Given the description of an element on the screen output the (x, y) to click on. 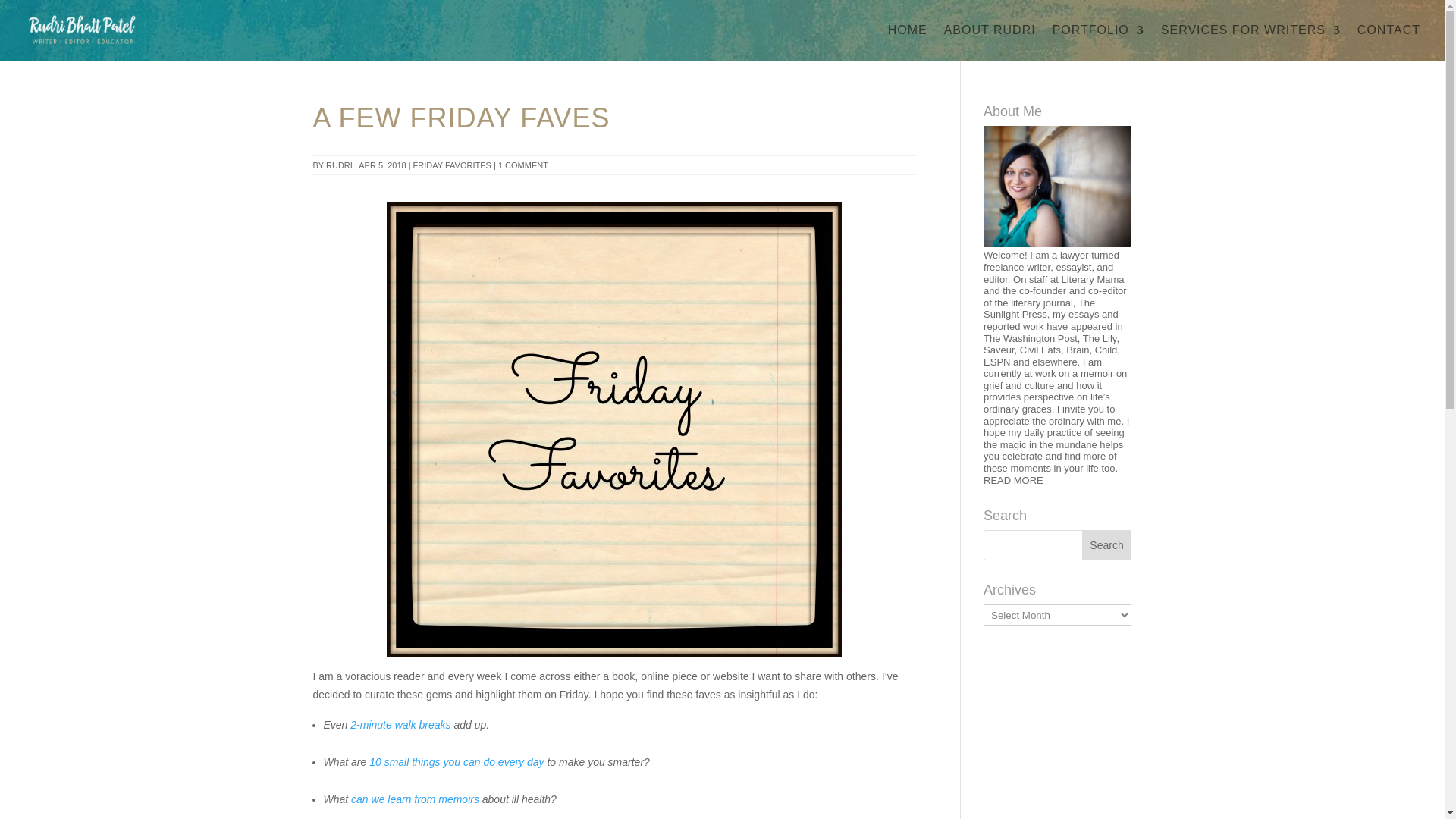
PORTFOLIO (1098, 42)
2-minute walk breaks (399, 725)
Posts by Rudri (339, 164)
1 COMMENT (522, 164)
Search (1106, 544)
can we learn from memoirs (414, 799)
RUDRI (339, 164)
Search (1106, 544)
SERVICES FOR WRITERS (1250, 42)
ABOUT RUDRI (989, 42)
